Given the description of an element on the screen output the (x, y) to click on. 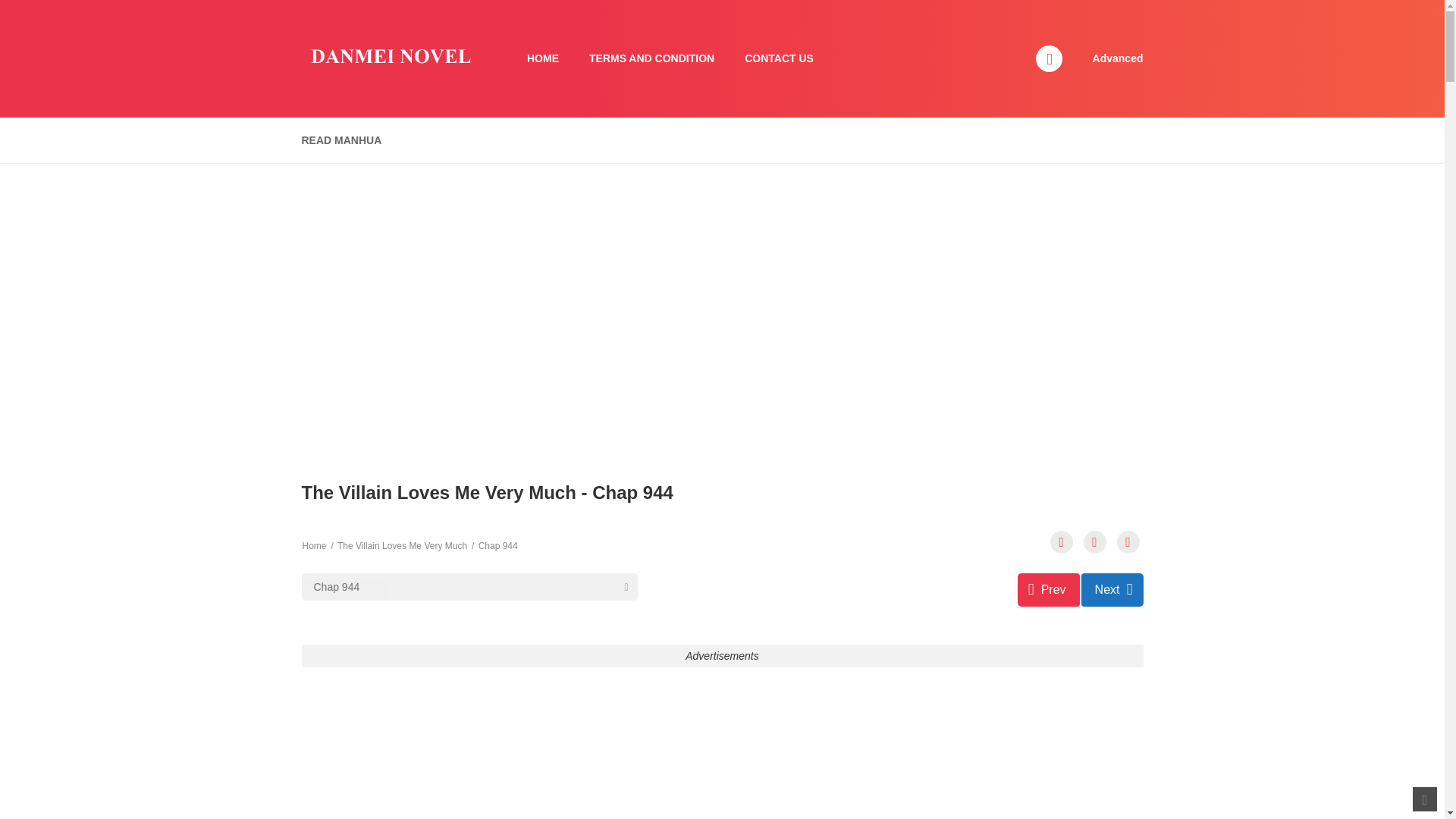
Prev (1048, 589)
TERMS AND CONDITION (651, 58)
HOME (542, 58)
Search (970, 9)
CONTACT US (778, 58)
The Villain Loves Me Very Much (402, 545)
READ MANHUA (341, 140)
Home (313, 545)
Danmei Novels (389, 57)
Next (1111, 589)
